Given the description of an element on the screen output the (x, y) to click on. 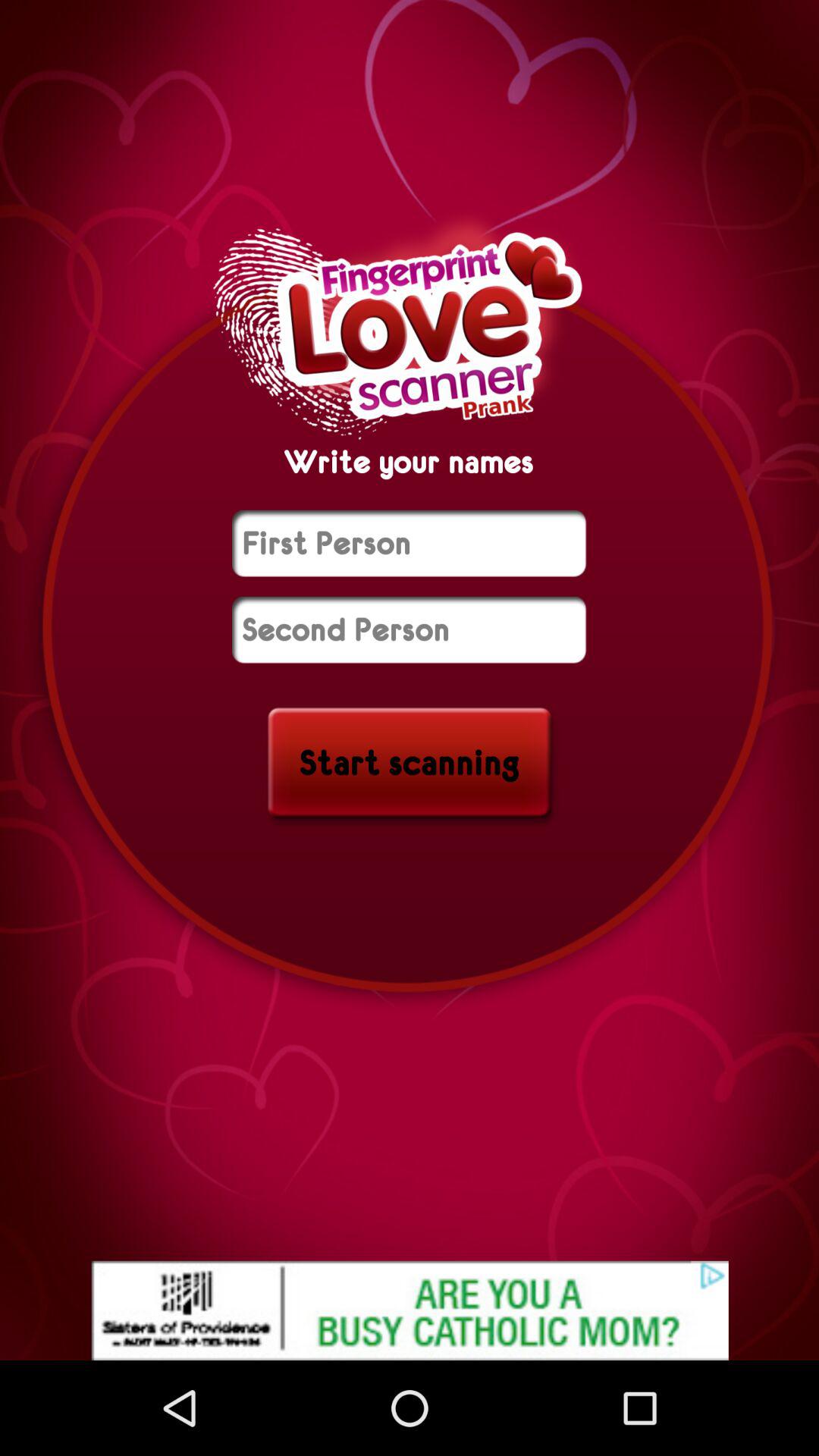
second person name (409, 629)
